Given the description of an element on the screen output the (x, y) to click on. 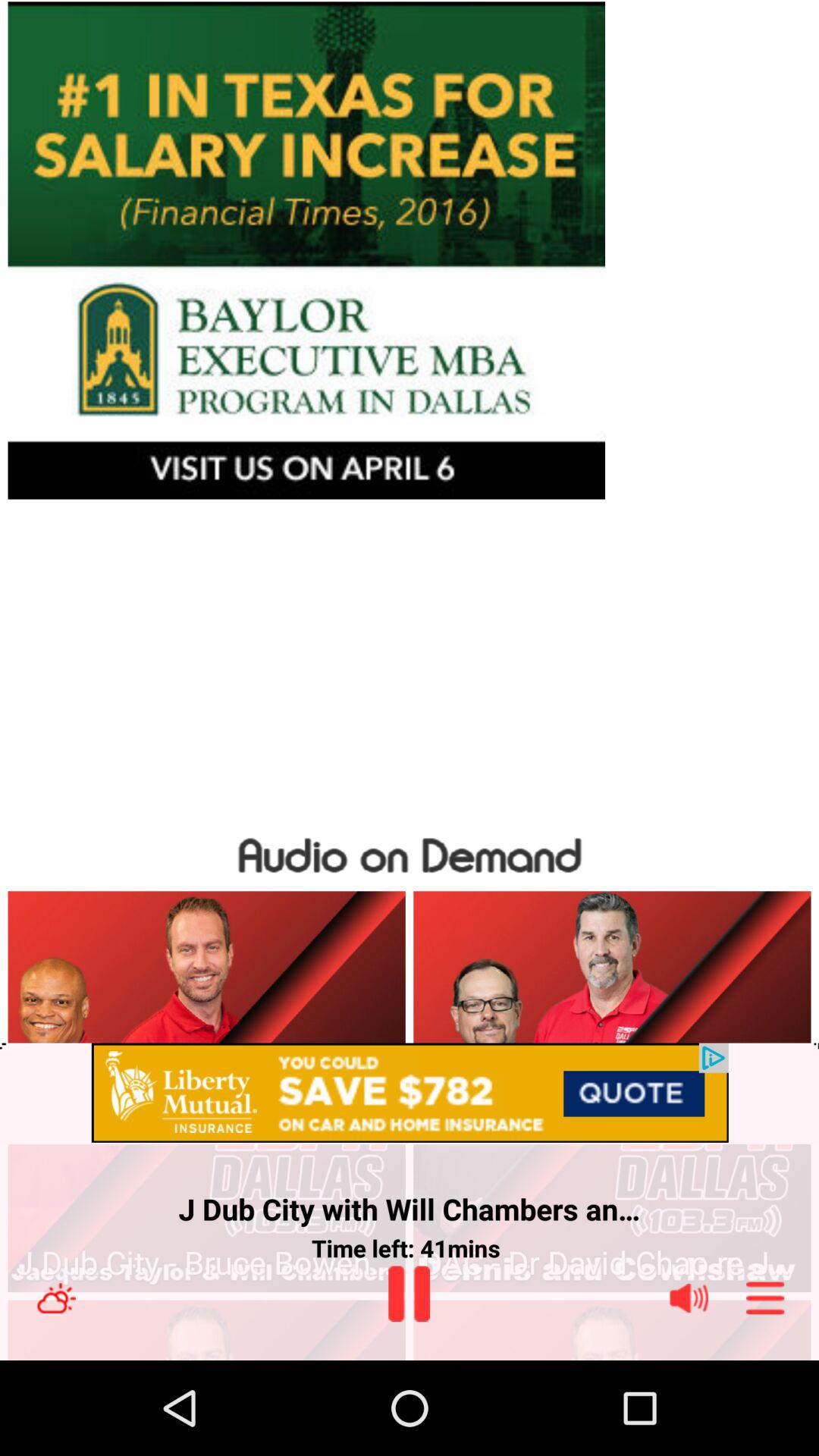
text called audio on demand (409, 852)
select the speaker icon (689, 1297)
select the climate icon (56, 1297)
